Given the description of an element on the screen output the (x, y) to click on. 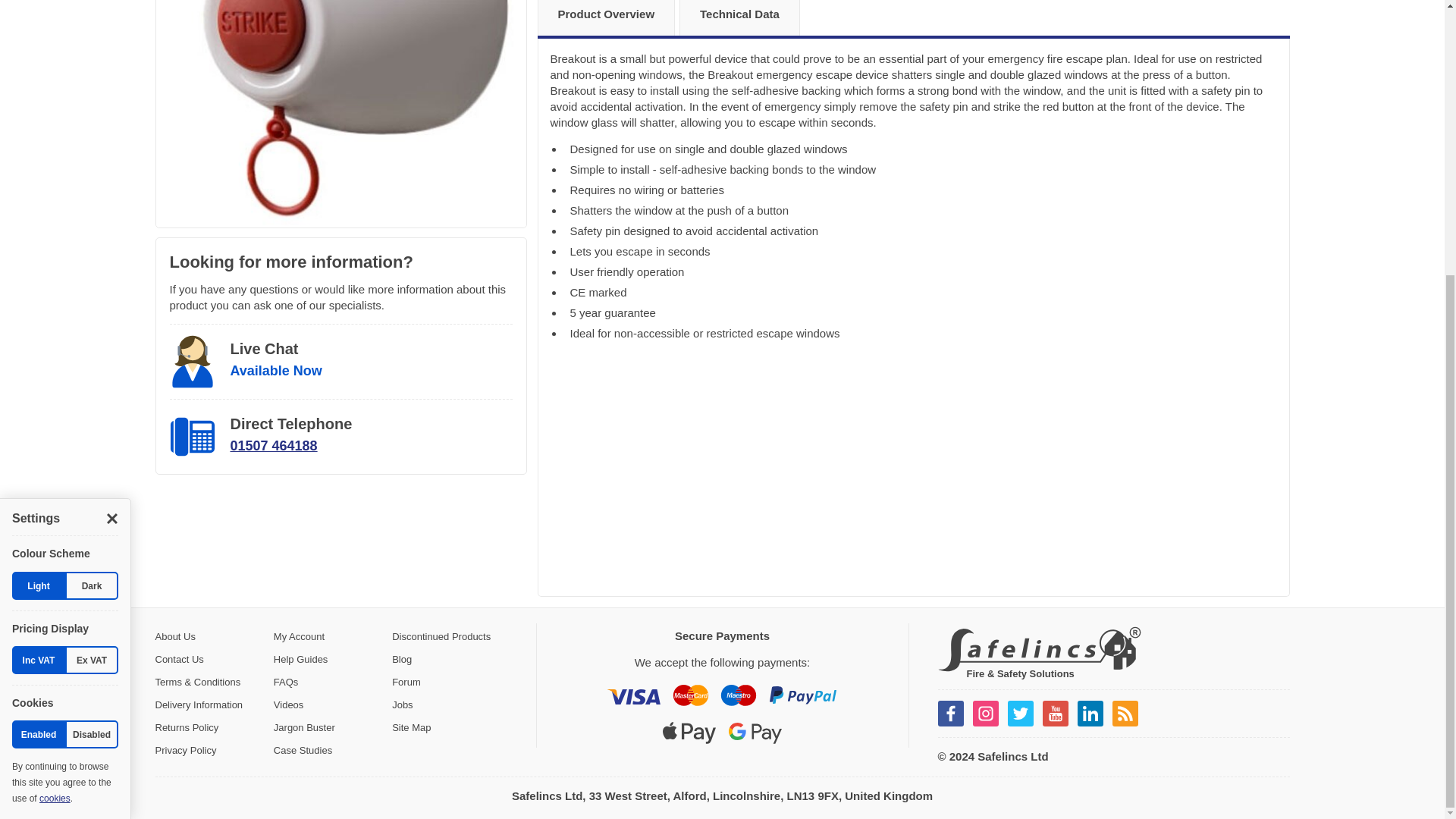
Help Guides (301, 659)
Videos (288, 704)
FAQs (285, 681)
Privacy Policy (184, 749)
Delivery Information (198, 704)
Log In (298, 636)
About Us (174, 636)
Breakout Emergency Escape Device (339, 114)
Contact Us (178, 657)
Returns Policy (186, 727)
